Given the description of an element on the screen output the (x, y) to click on. 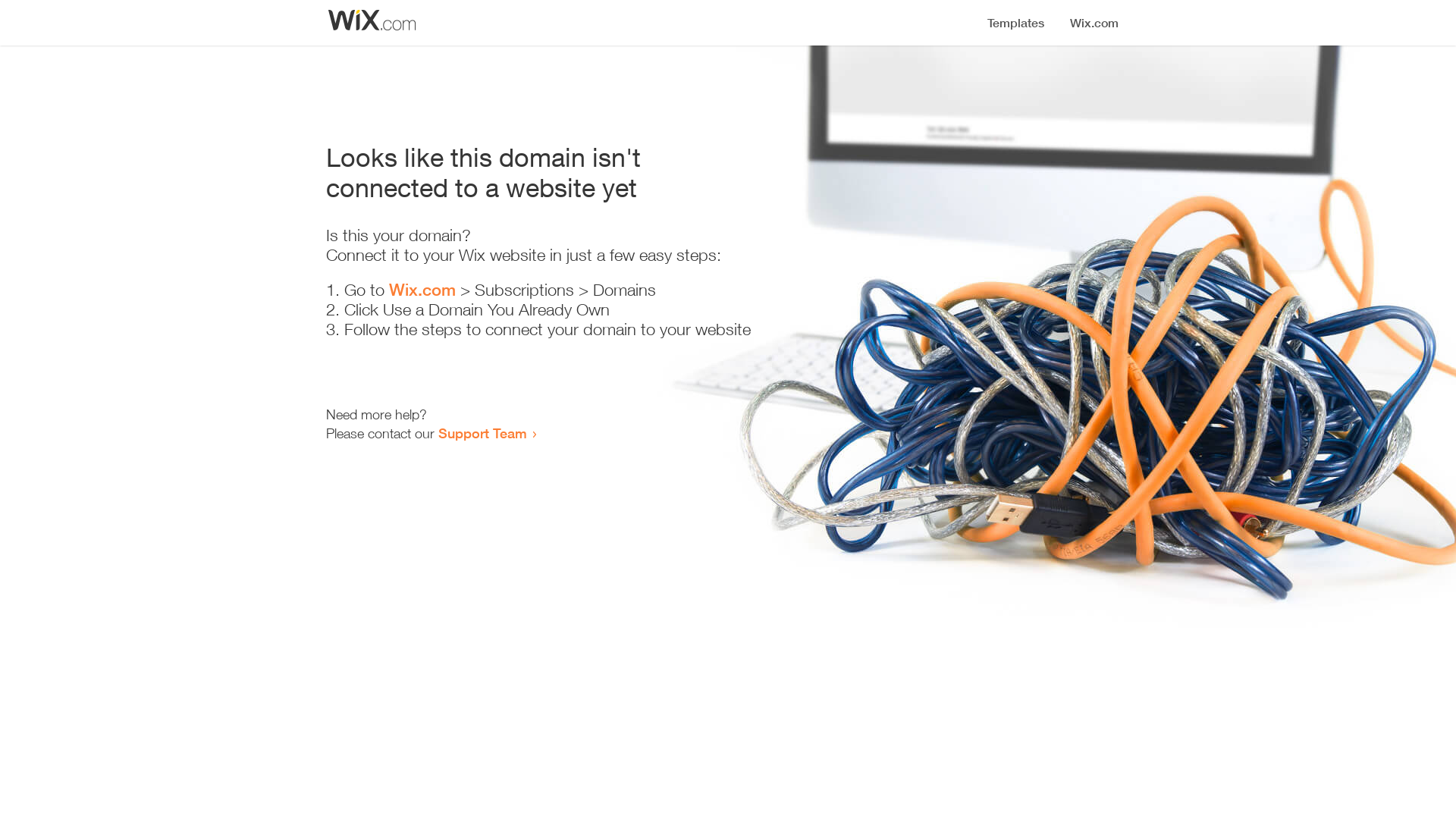
Wix.com Element type: text (422, 289)
Support Team Element type: text (482, 432)
